Given the description of an element on the screen output the (x, y) to click on. 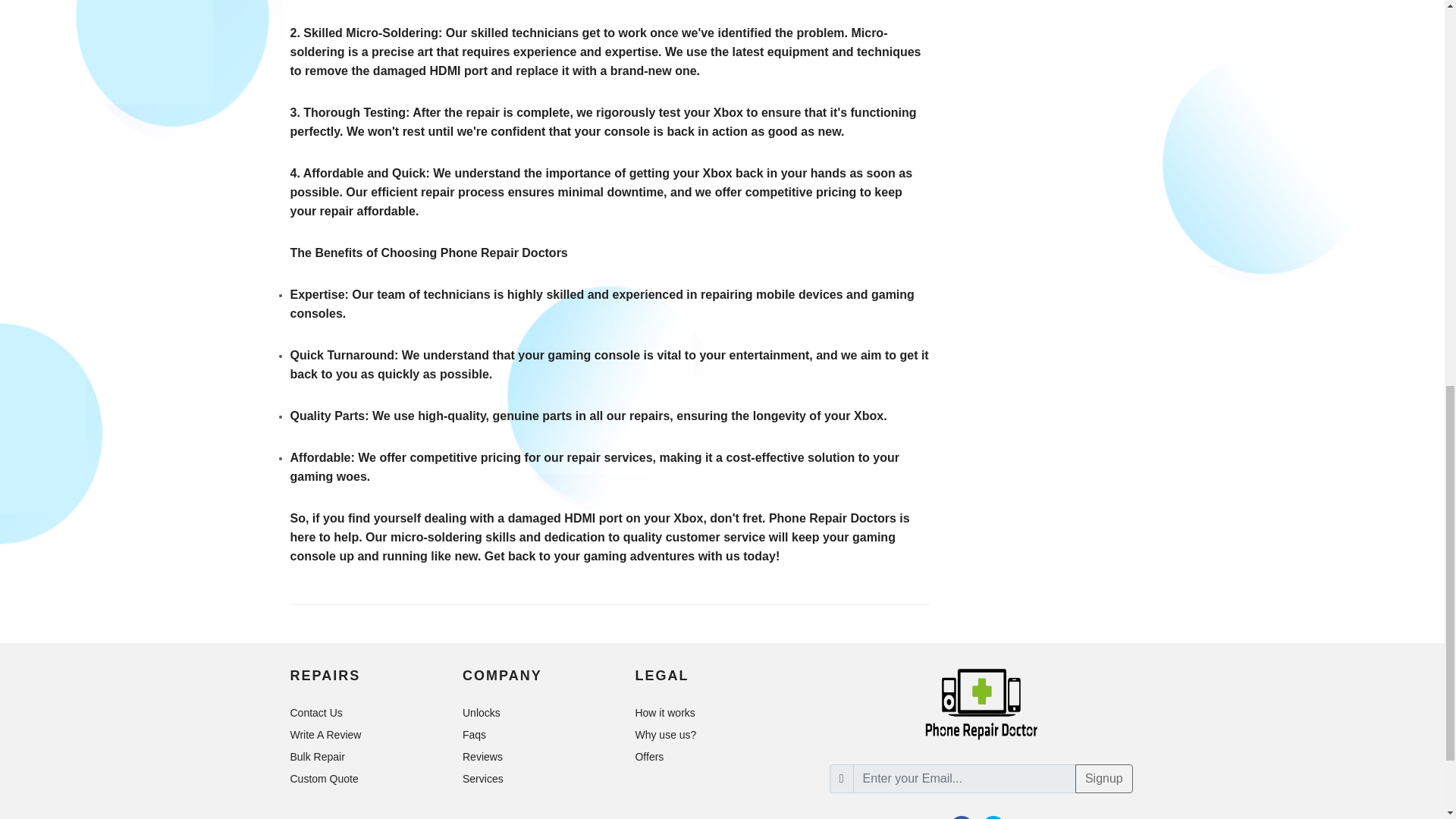
Write A Review (325, 734)
Services (484, 778)
Faqs (475, 734)
Bulk Repair (317, 756)
Reviews (484, 756)
Custom Quote (324, 778)
Contact Us (316, 712)
Unlocks (482, 712)
